Given the description of an element on the screen output the (x, y) to click on. 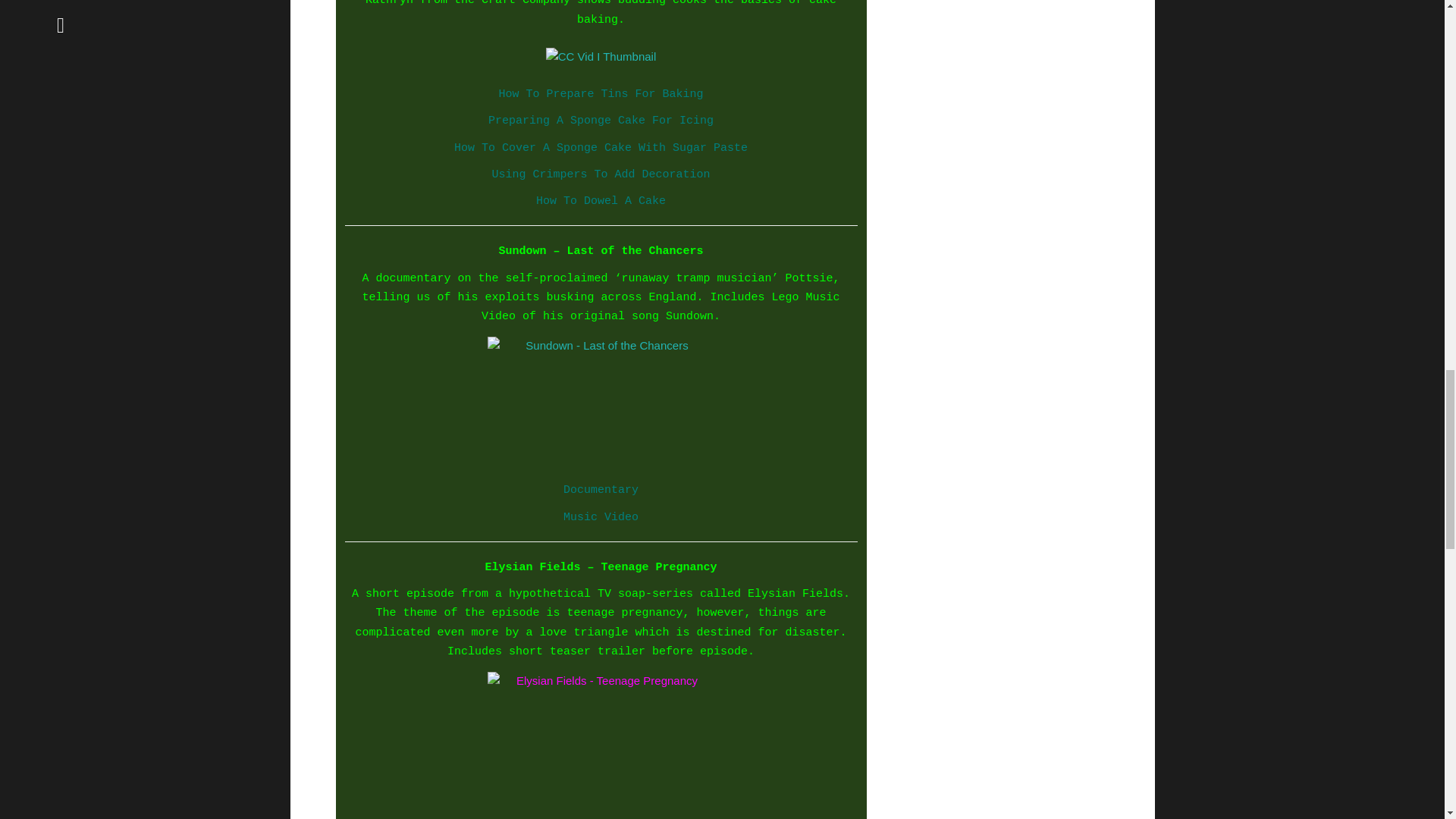
Documentary (601, 488)
How To Cover A Sponge Cake With Sugar Paste (601, 146)
Using Crimpers To Add Decoration (601, 173)
Elysian Fields - Teenage Pregnancy (600, 737)
How To Dowel A Cake (600, 199)
How To Prepare Tins For Baking (600, 92)
Elysian Fields - Teenage Pregnancy (600, 737)
Using Crimpers To Add Decoration (601, 173)
How To Prepare Tins For Baking (600, 92)
Preparing A Sponge Cake For Icing (600, 119)
